Given the description of an element on the screen output the (x, y) to click on. 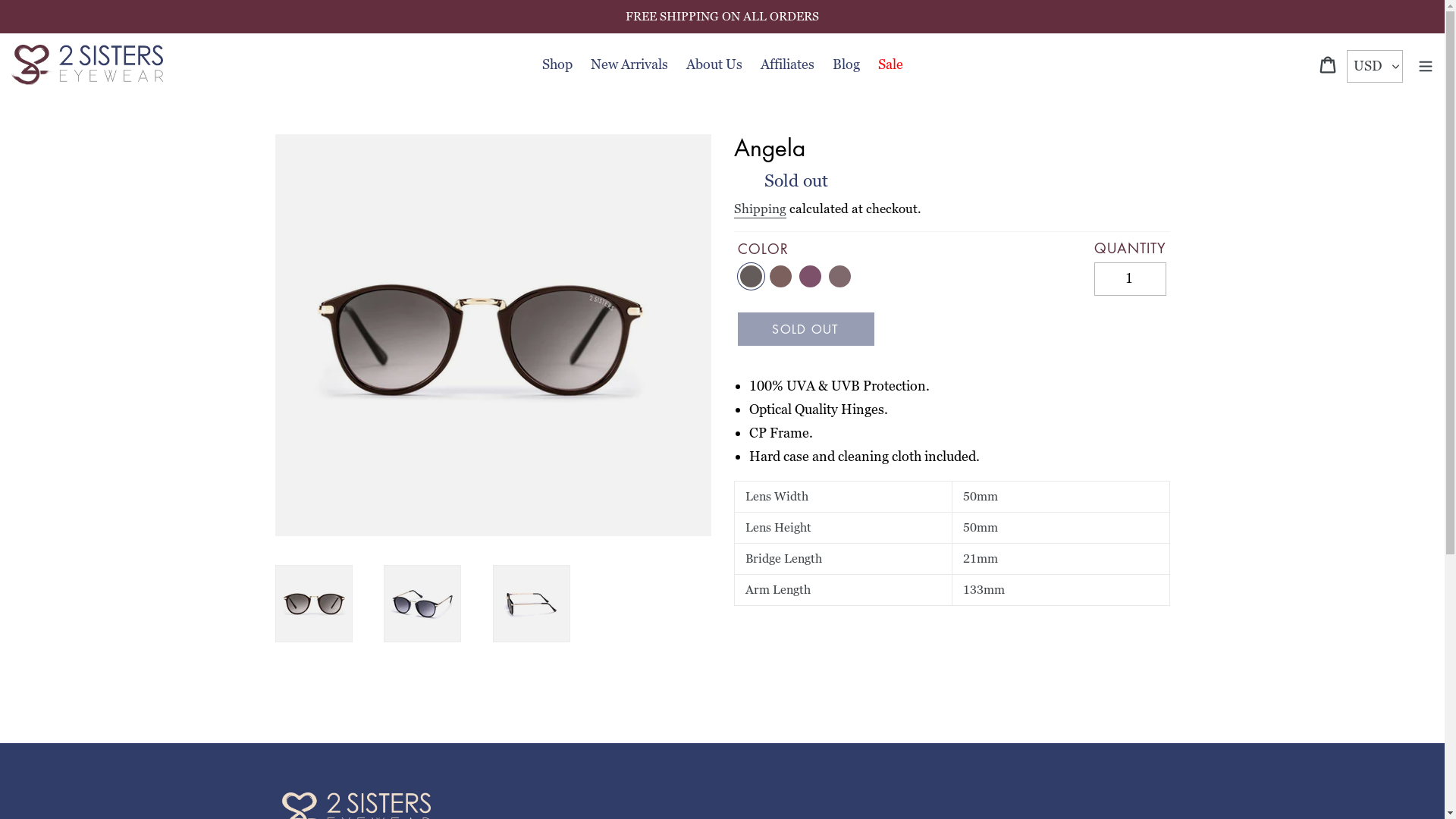
New Arrivals Element type: text (628, 64)
Blog Element type: text (846, 64)
Cart Element type: text (1328, 64)
SOLD OUT Element type: text (805, 328)
Tortoise with Gradient Brown Lens Element type: hover (780, 276)
Black with Gradient Smoke Lens Element type: hover (422, 603)
Shop Element type: text (556, 64)
Crystal Nude with Gradient Wine Smoke Lens Element type: hover (839, 276)
Black with Gradient Smoke Lens Element type: hover (531, 603)
Black with Gradient Smoke Lens Element type: hover (312, 603)
About Us Element type: text (713, 64)
Black with Gradient Smoke Lens Element type: hover (750, 276)
Affiliates Element type: text (786, 64)
Sale Element type: text (890, 64)
Milky Wine Fade with Gradient Wine Smoke Lens Element type: hover (809, 276)
Shipping Element type: text (760, 209)
